Given the description of an element on the screen output the (x, y) to click on. 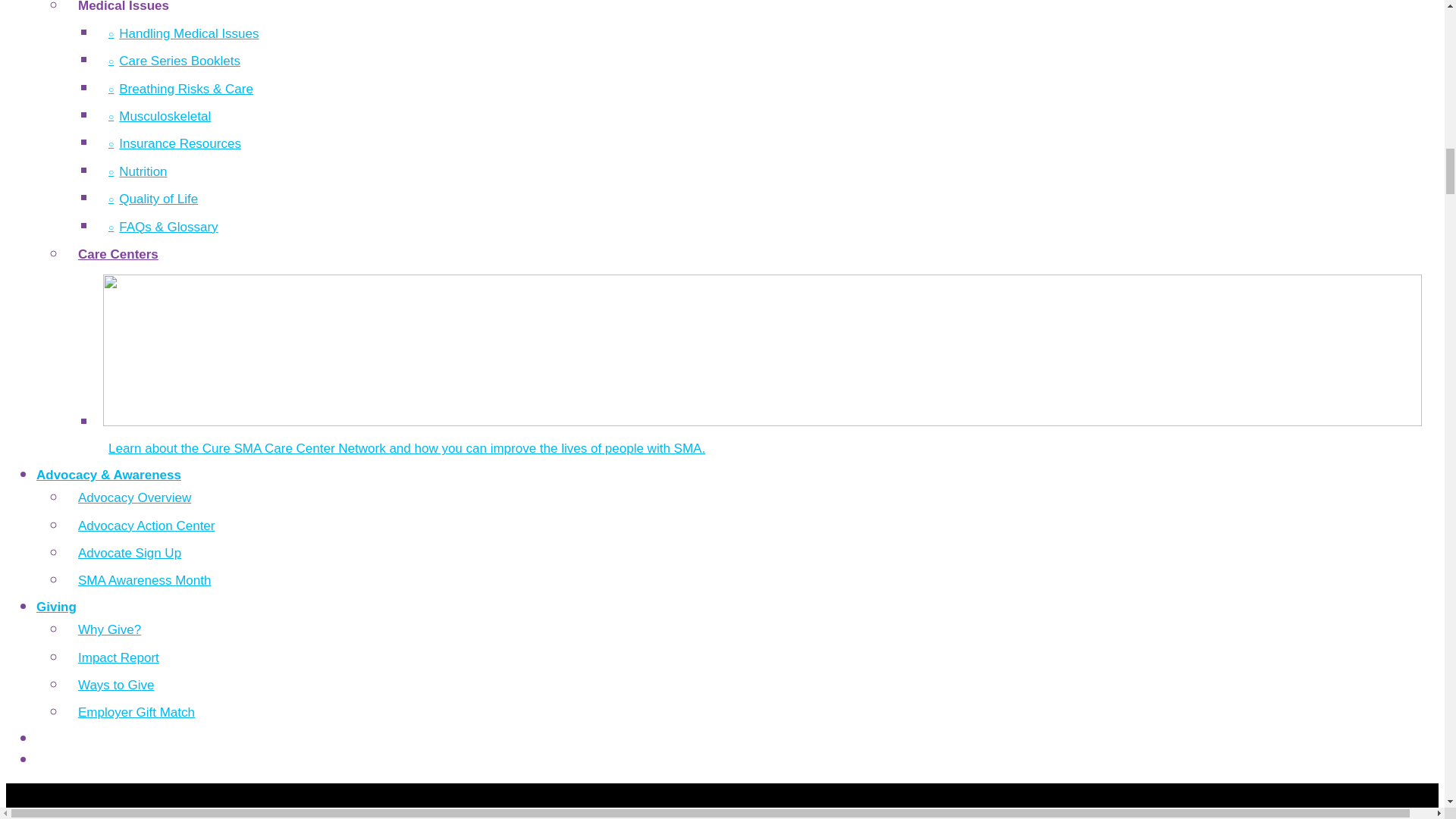
uabb-menu-toggle (721, 800)
